Given the description of an element on the screen output the (x, y) to click on. 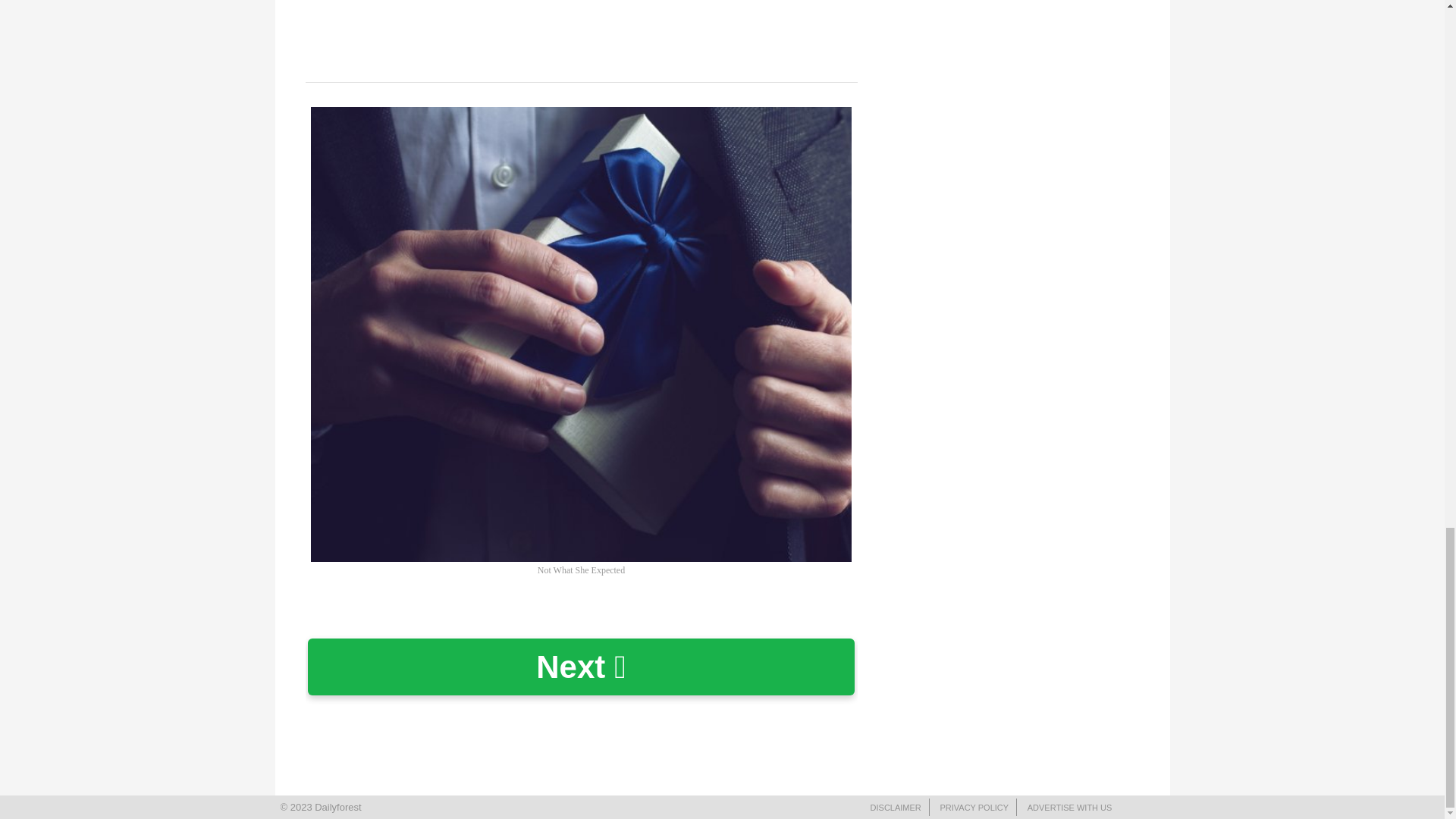
DISCLAIMER (895, 807)
PRIVACY POLICY (974, 807)
Next (580, 666)
ADVERTISE WITH US (1069, 807)
